Given the description of an element on the screen output the (x, y) to click on. 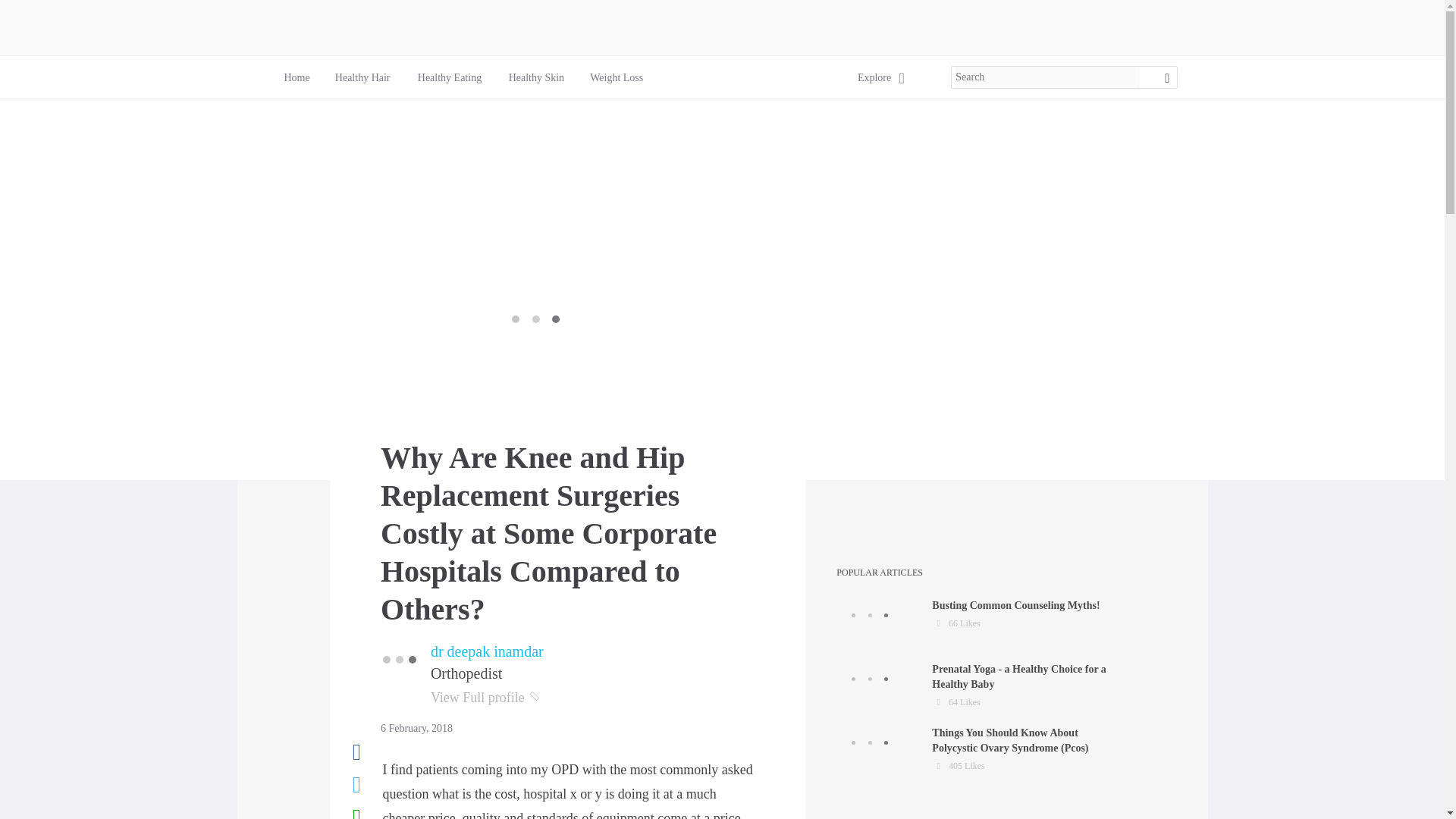
Healthy Eating (449, 77)
Healthy Eating (977, 622)
dr deepak inamdar (450, 77)
Healthy Hair (486, 651)
Healthy Skin (362, 77)
Weight Loss (536, 77)
Home (616, 77)
Healthy Skin (295, 77)
Healthy Hair (535, 77)
Weight Loss (362, 77)
Explore (616, 77)
